Given the description of an element on the screen output the (x, y) to click on. 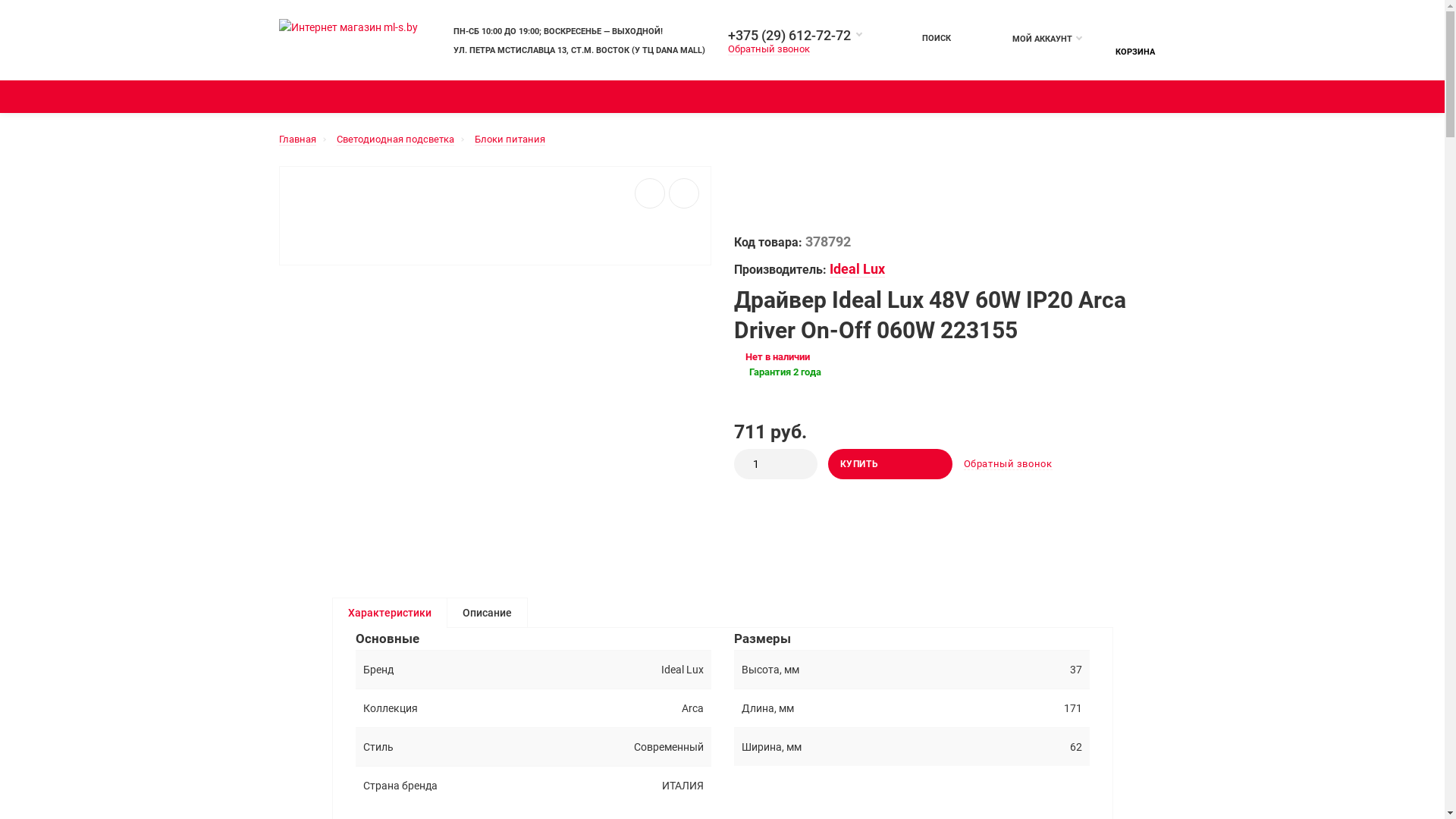
Ideal Lux Element type: text (856, 269)
+375 (29) 612-72-72 Element type: text (795, 34)
